Given the description of an element on the screen output the (x, y) to click on. 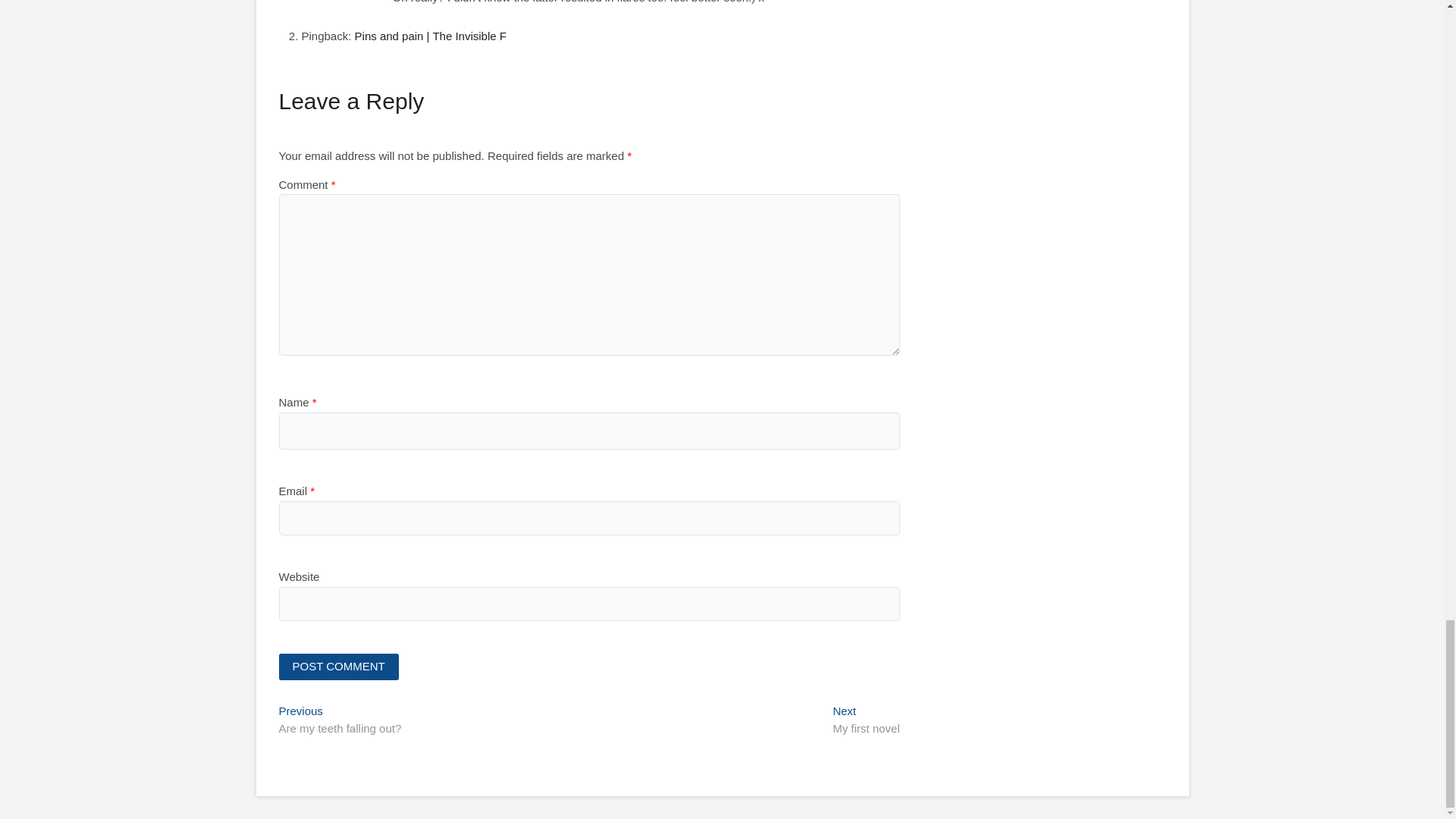
Post Comment (338, 666)
